Given the description of an element on the screen output the (x, y) to click on. 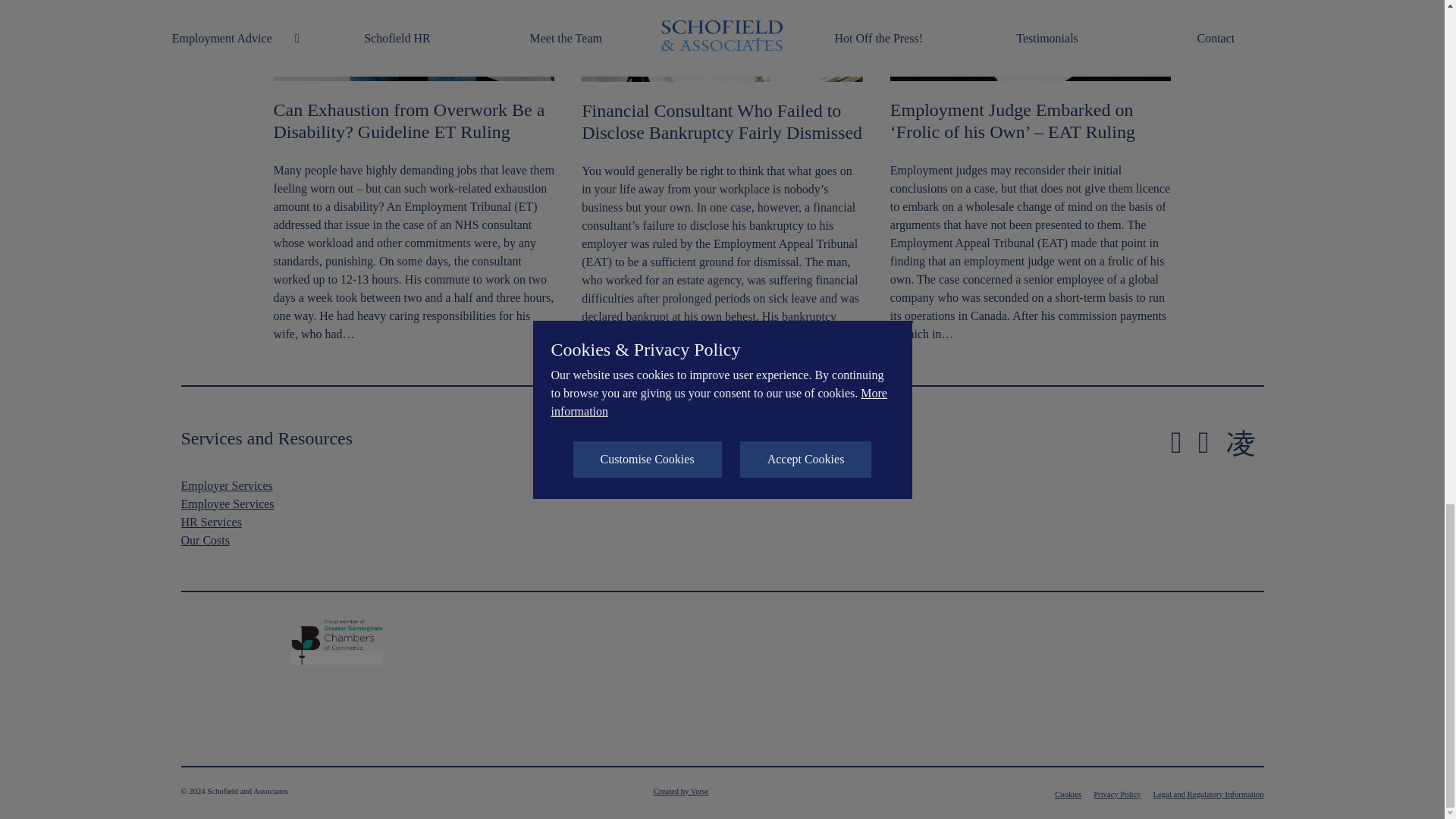
Our Costs (204, 540)
Created by Verse (681, 791)
Employer Services (226, 485)
Legal and Regulatory Information (1208, 794)
Privacy Policy (1116, 794)
HR Services (210, 521)
Cookies (1067, 794)
Employee Services (226, 503)
